Given the description of an element on the screen output the (x, y) to click on. 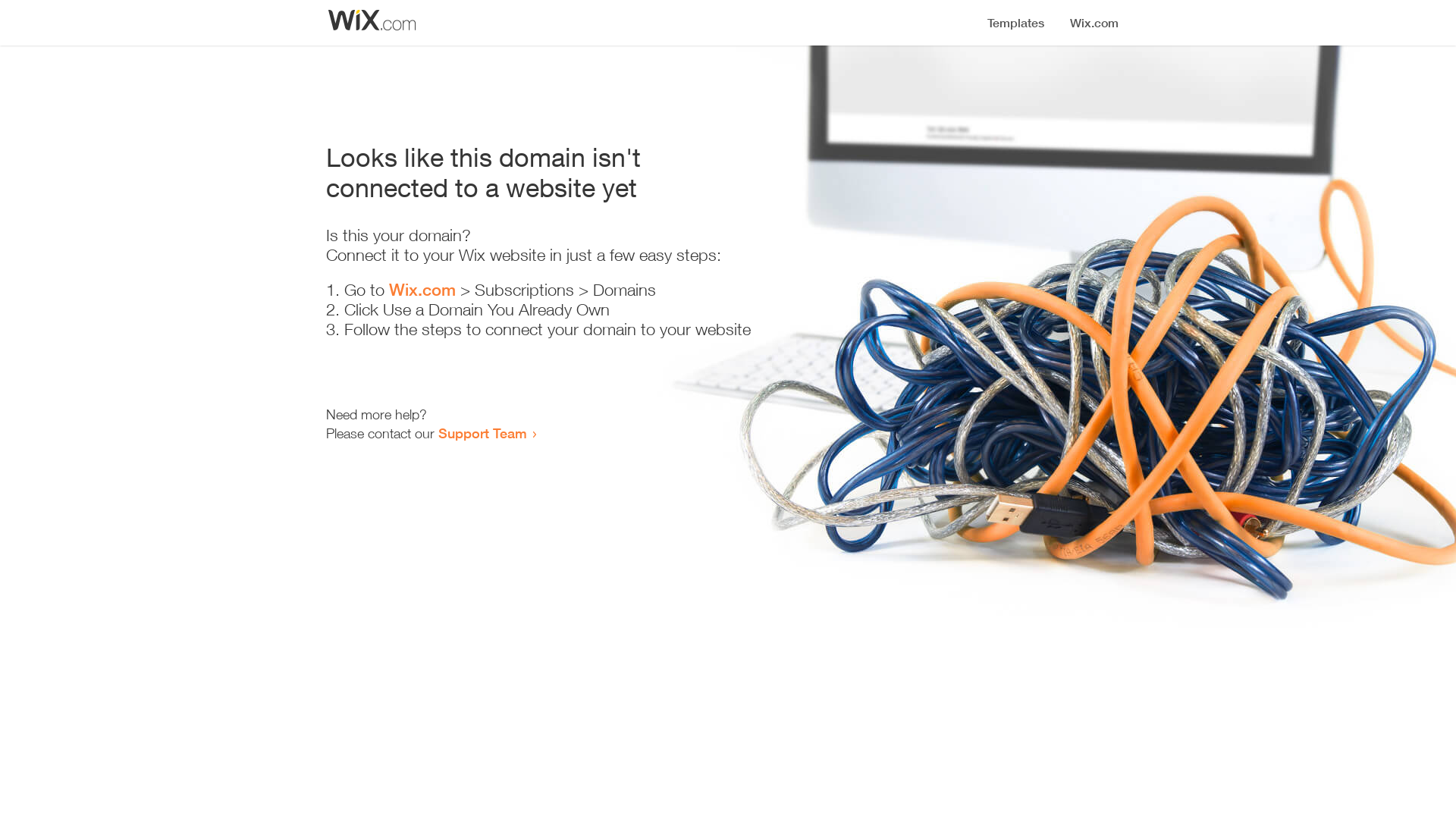
Wix.com Element type: text (422, 289)
Support Team Element type: text (482, 432)
